Given the description of an element on the screen output the (x, y) to click on. 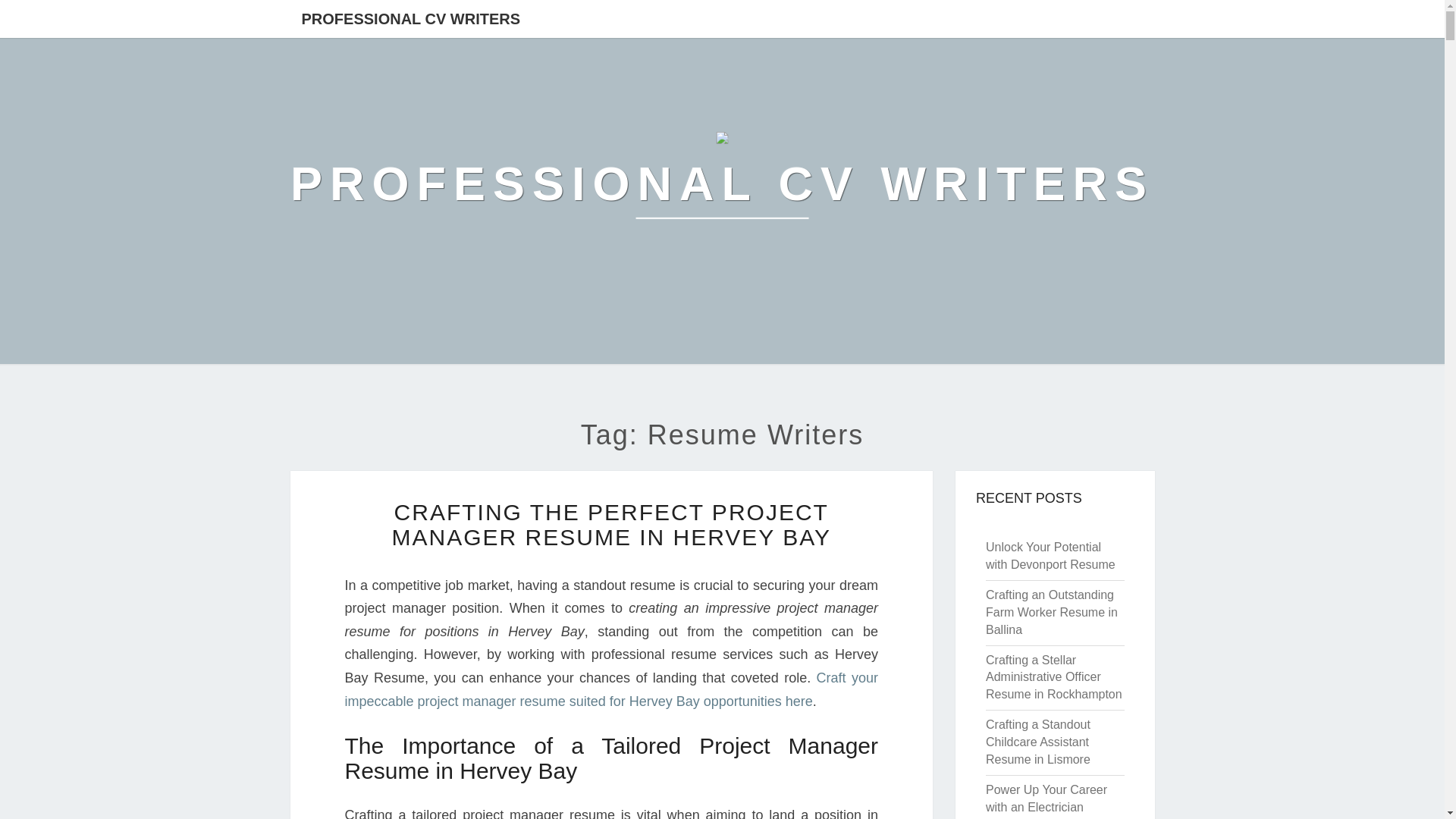
PROFESSIONAL CV WRITERS (410, 18)
CRAFTING THE PERFECT PROJECT MANAGER RESUME IN HERVEY BAY (611, 524)
PROFESSIONAL CV WRITERS (721, 184)
Professional CV Writers (721, 184)
